Given the description of an element on the screen output the (x, y) to click on. 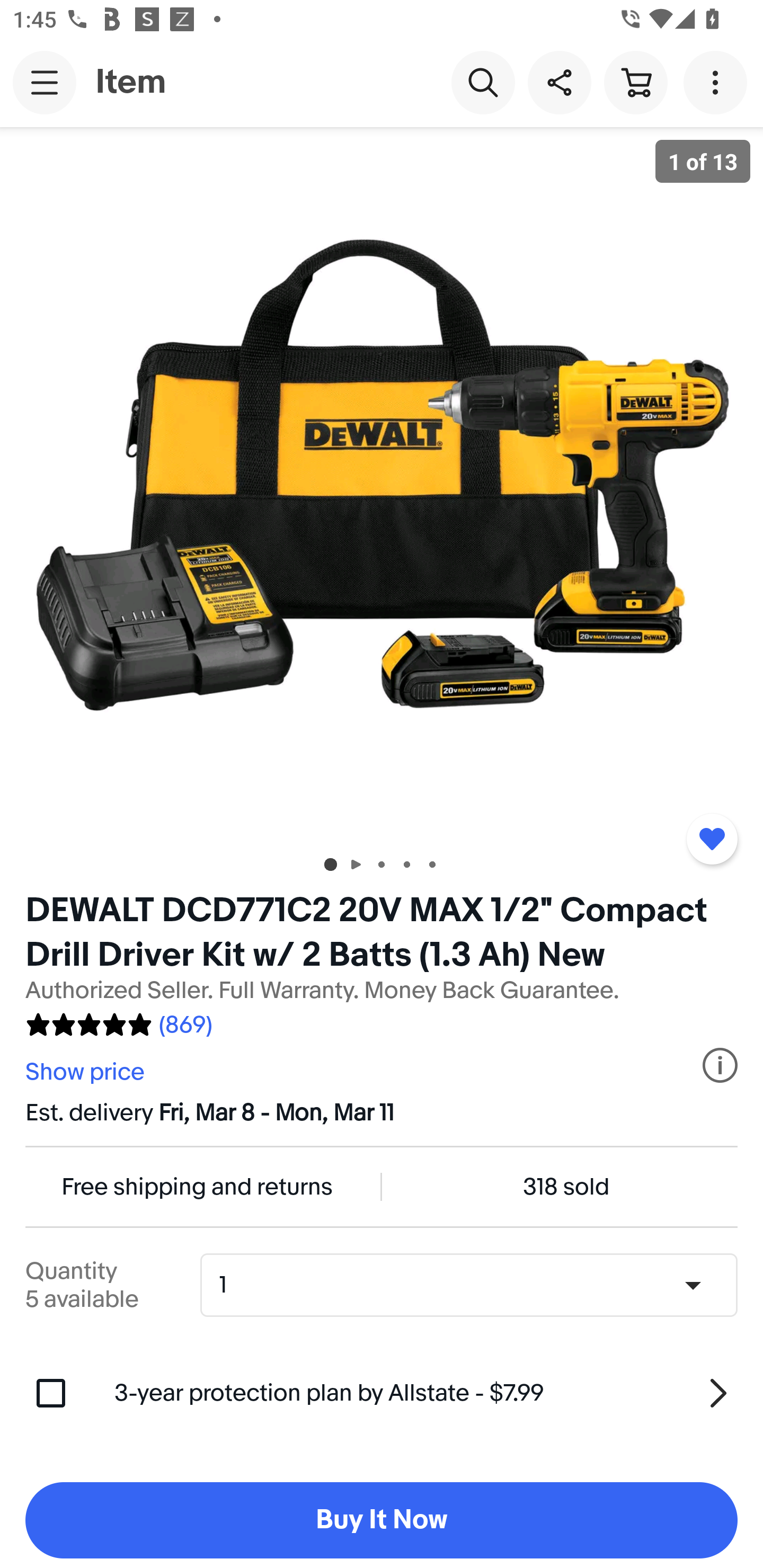
Main navigation, open (44, 82)
Search (482, 81)
Share this item (559, 81)
Cart button shopping cart (635, 81)
More options (718, 81)
Item image 1 of 13 (381, 482)
Added to watchlist (711, 838)
More information (719, 1065)
Show price (87, 1072)
Quantity,1,5 available 1 (474, 1284)
3-year protection plan by Allstate - $7.99 (425, 1392)
Buy It Now (381, 1519)
